Given the description of an element on the screen output the (x, y) to click on. 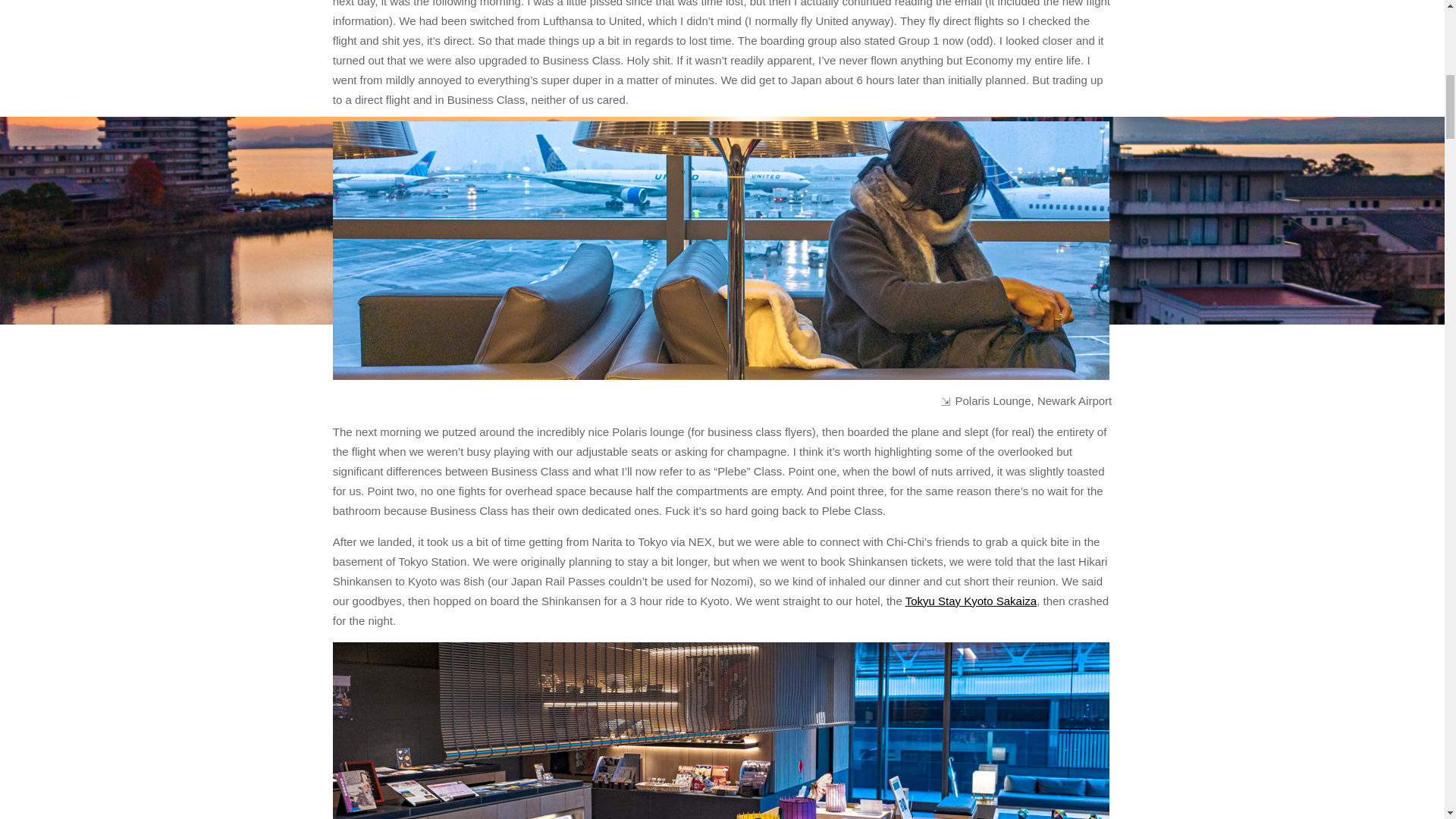
Tokyu Stay Kyoto Sakaiza (970, 600)
